Given the description of an element on the screen output the (x, y) to click on. 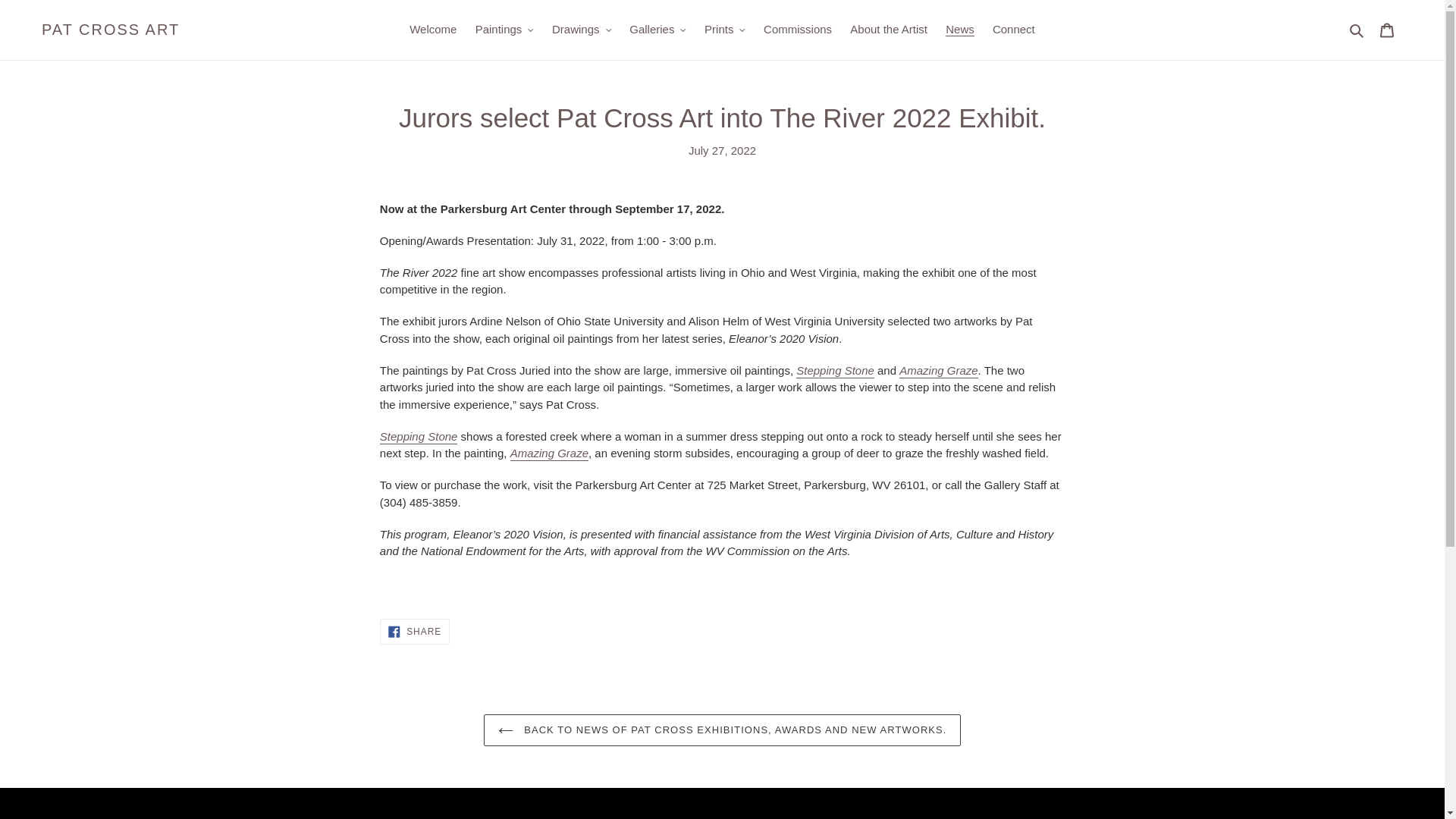
Welcome (432, 29)
Galleries (657, 29)
Commissions (797, 29)
Search (1357, 29)
Drawings (581, 29)
Paintings (504, 29)
About the Artist (888, 29)
Connect (1013, 29)
PAT CROSS ART (110, 29)
Prints (724, 29)
Cart (1387, 29)
News (959, 29)
